Given the description of an element on the screen output the (x, y) to click on. 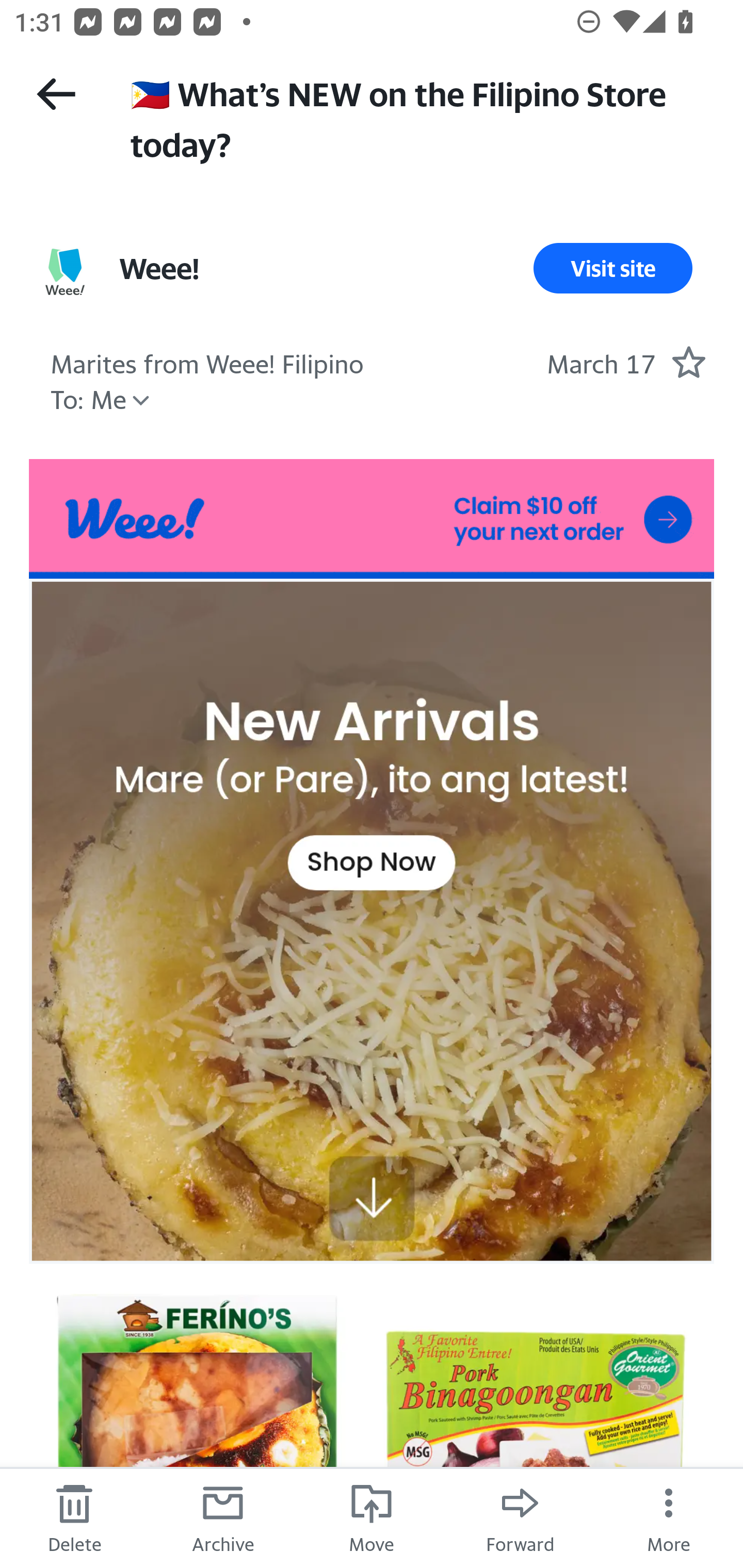
Back (55, 93)
🇵🇭 What’s NEW on the Filipino Store today? (418, 116)
View all messages from sender (64, 272)
Visit site Visit Site Link (612, 268)
Weee! Sender Weee! (158, 267)
Mark as starred. (688, 361)
click?upn=u001 (371, 518)
Delete (74, 1517)
Archive (222, 1517)
Move (371, 1517)
Forward (519, 1517)
More (668, 1517)
